Given the description of an element on the screen output the (x, y) to click on. 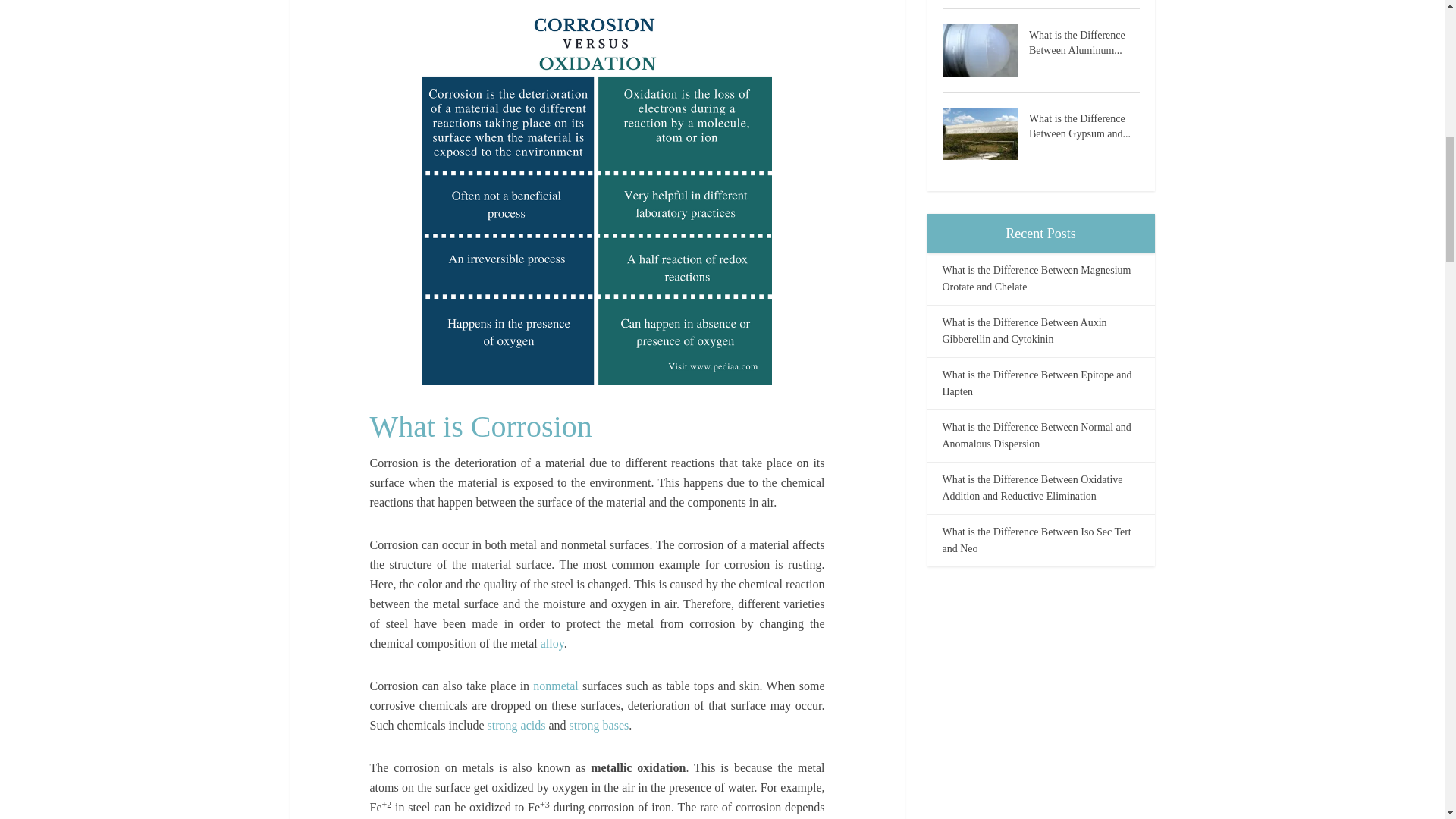
nonmetal (555, 685)
strong bases (598, 725)
What is the Difference Between Gypsum and Phosphogypsum (1084, 124)
alloy (552, 643)
What is the Difference Between Gypsum and Phosphogypsum (984, 133)
strong acids (516, 725)
